Given the description of an element on the screen output the (x, y) to click on. 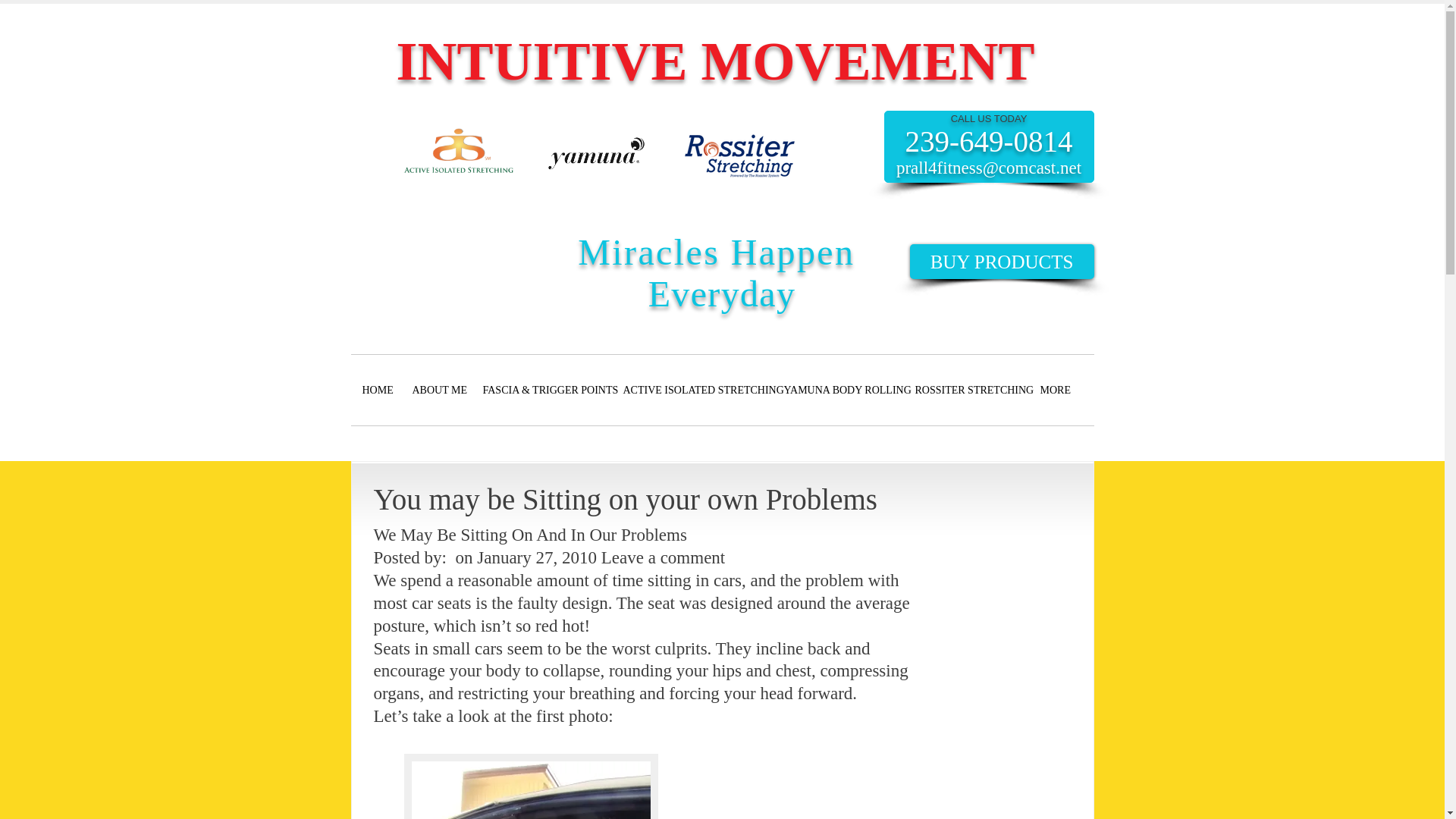
239-649-0814 (989, 141)
ACTIVE ISOLATED STRETCHING (691, 389)
ROSSITER STRETCHING (966, 389)
HOME (375, 389)
BUY PRODUCTS (1002, 261)
ABOUT ME (435, 389)
YAMUNA BODY ROLLING (836, 389)
